Given the description of an element on the screen output the (x, y) to click on. 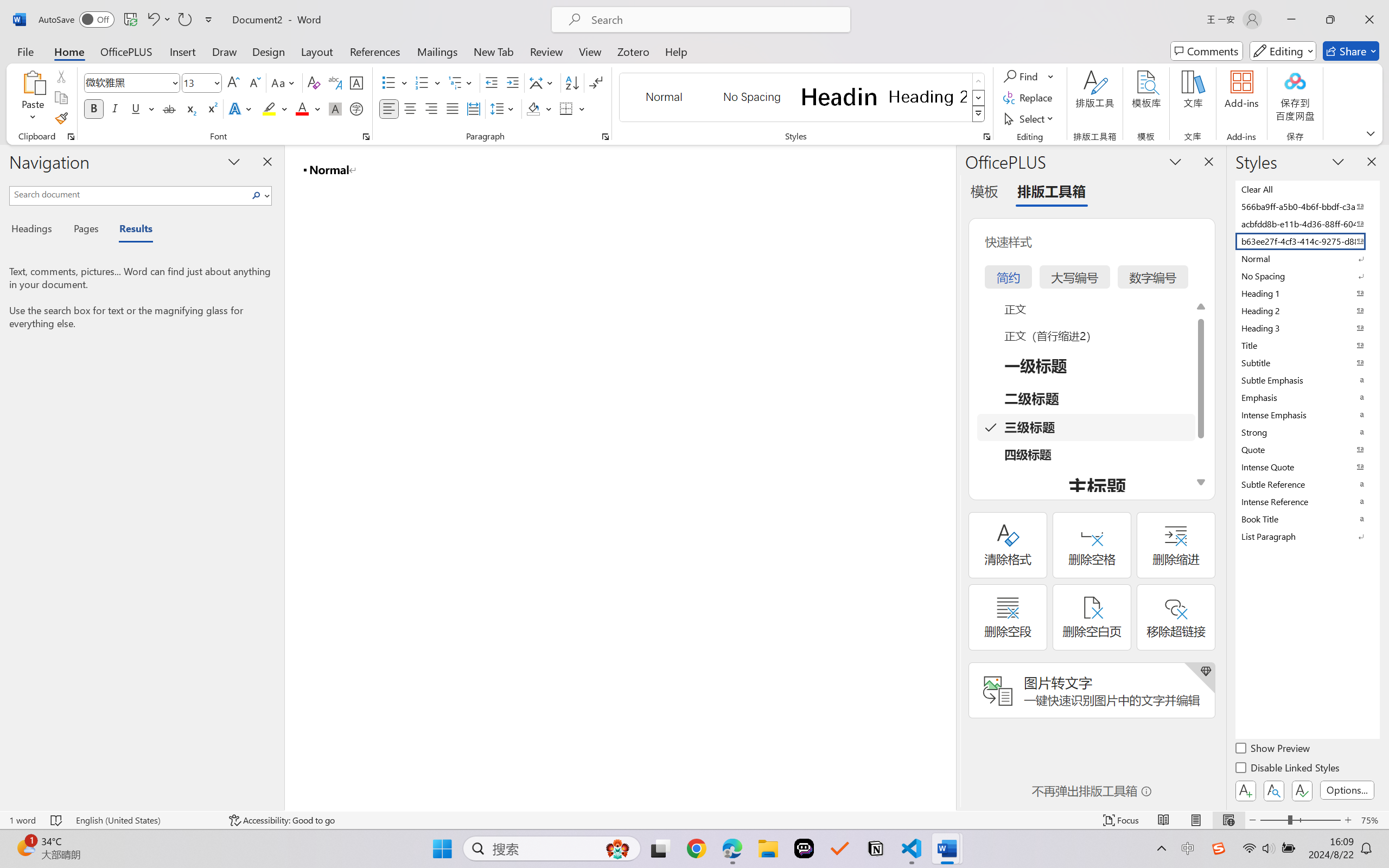
Minimize (1291, 19)
Close (1369, 19)
Enclose Characters... (356, 108)
Heading 2 (927, 96)
Borders (571, 108)
Focus  (1121, 819)
Web Layout (1228, 819)
Font (132, 82)
New Tab (493, 51)
Bullets (395, 82)
Text Highlight Color Yellow (269, 108)
Find (1029, 75)
Intense Emphasis (1306, 414)
